Given the description of an element on the screen output the (x, y) to click on. 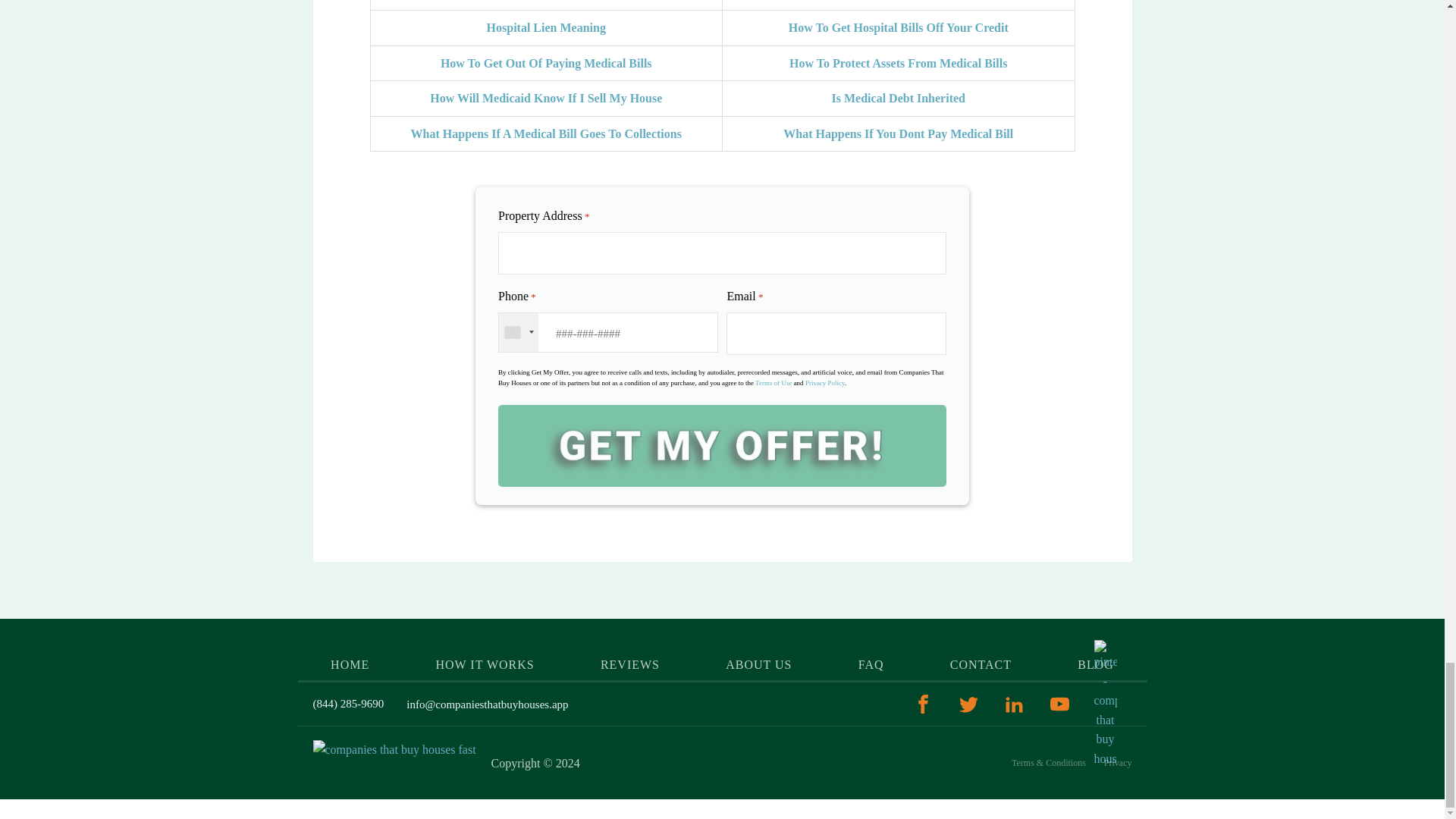
Privacy Policy (824, 382)
What Happens If You Dont Pay Medical Bill (898, 133)
How Will Medicaid Know If I Sell My House (545, 97)
What Happens If A Medical Bill Goes To Collections (545, 133)
HOME (349, 664)
Hospital Lien Meaning (545, 27)
HOW IT WORKS (484, 664)
How To Protect Assets From Medical Bills (898, 62)
How To Get Out Of Paying Medical Bills (546, 62)
Terms of Use (773, 382)
Is Medical Debt Inherited (898, 97)
How To Get Hospital Bills Off Your Credit (899, 27)
